Given the description of an element on the screen output the (x, y) to click on. 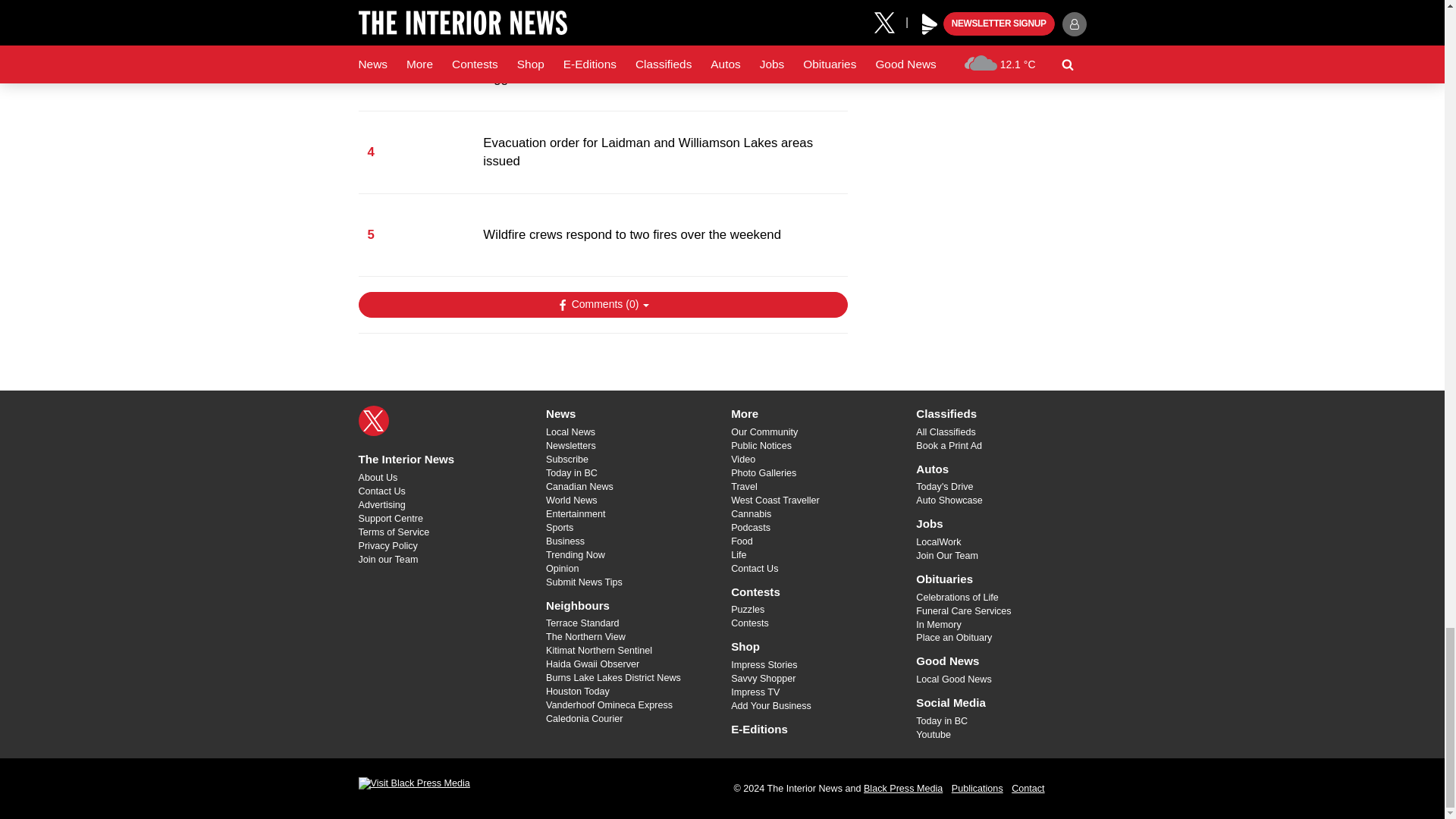
X (373, 420)
Show Comments (602, 304)
